Given the description of an element on the screen output the (x, y) to click on. 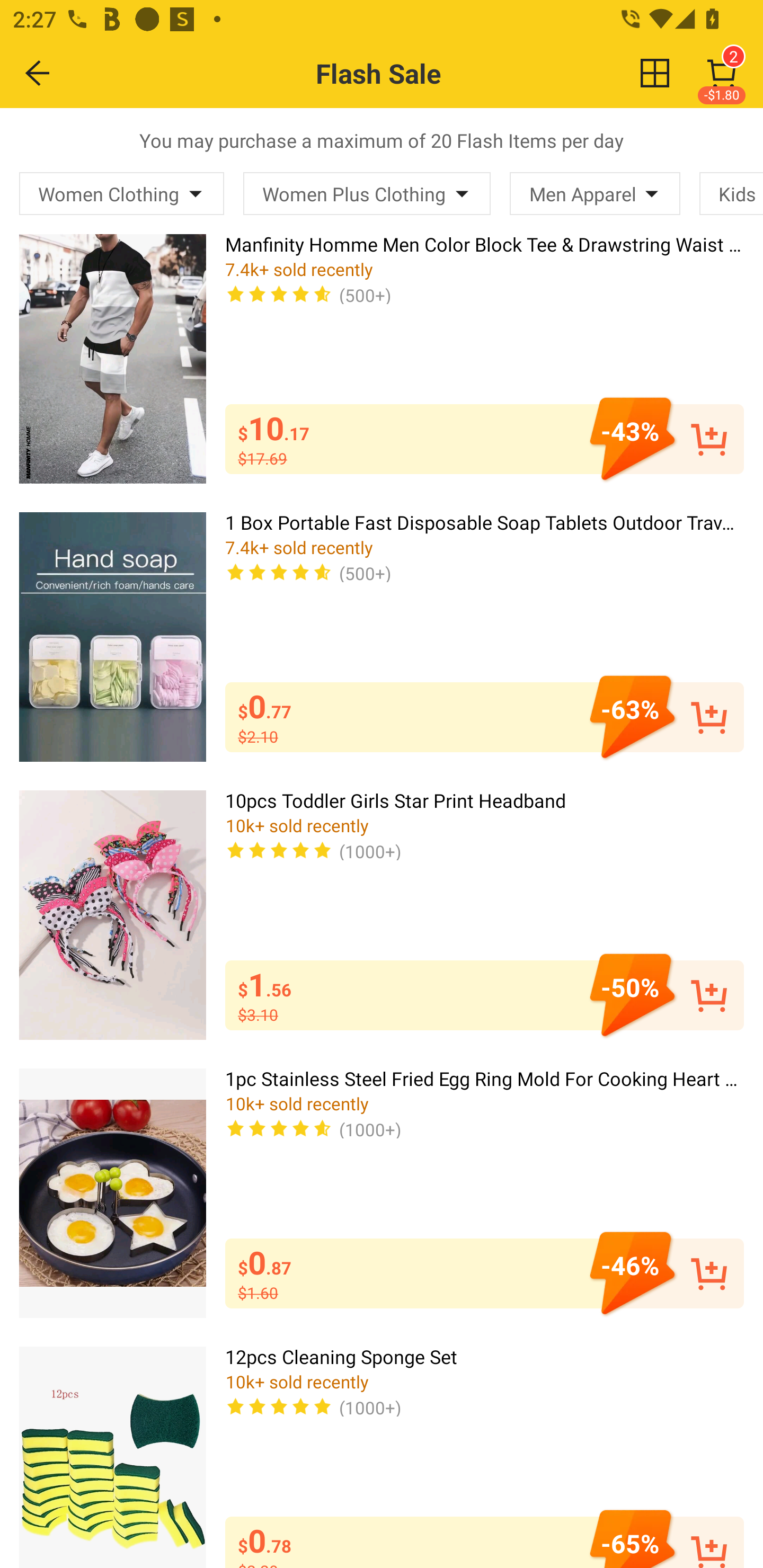
Flash Sale change view 2 -$1.80 (419, 72)
2 -$1.80 (721, 72)
change view (654, 72)
BACK (38, 72)
Women Clothing (121, 193)
Women Plus Clothing (366, 193)
Men Apparel (594, 193)
Kids (731, 193)
10pcs Toddler Girls Star Print Headband (112, 914)
12pcs Cleaning Sponge Set (112, 1457)
